Given the description of an element on the screen output the (x, y) to click on. 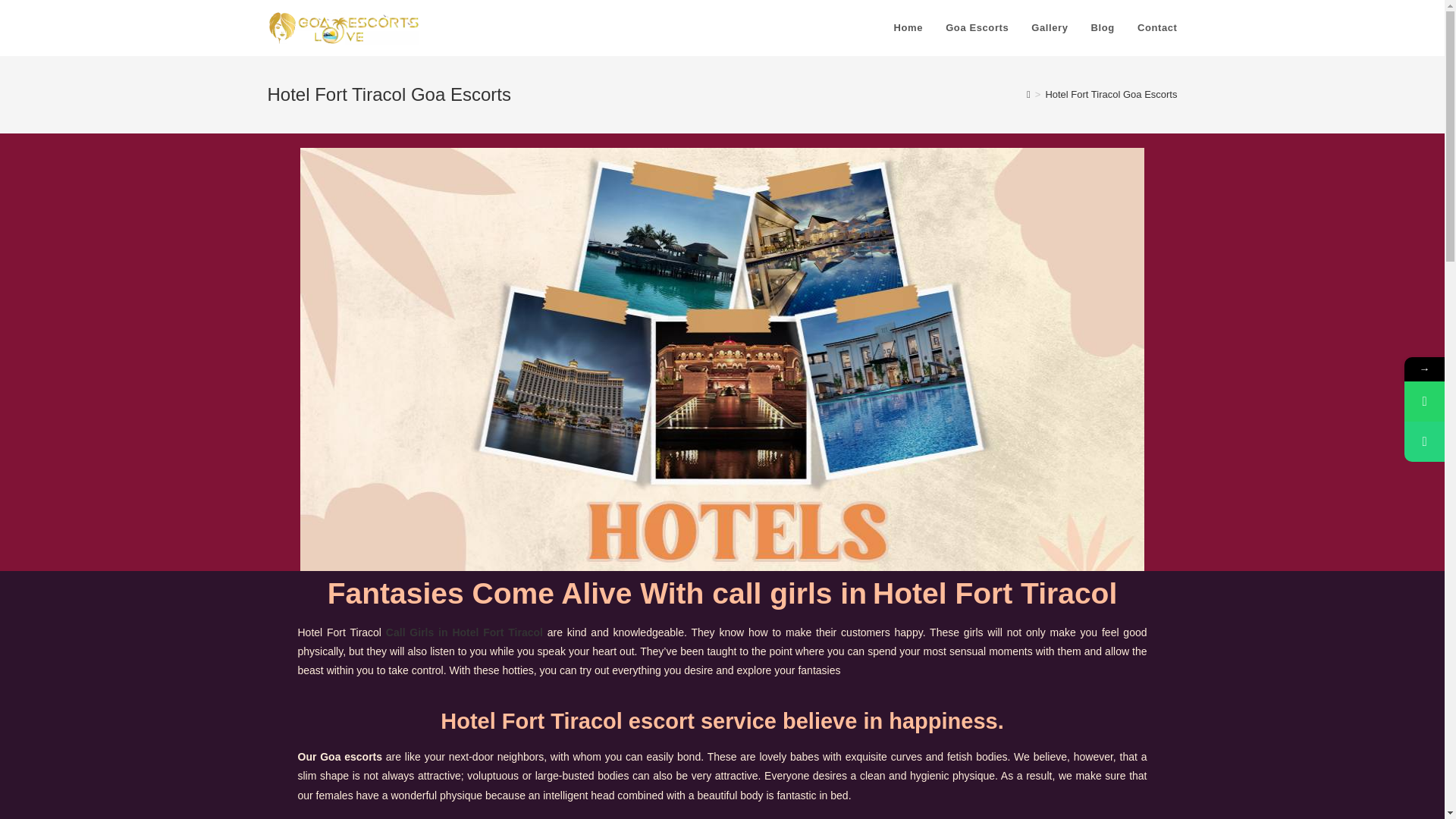
Goa Escorts (977, 28)
Call Girls in Hotel Fort Tiracol (464, 632)
Contact (1157, 28)
Home (908, 28)
Hotel Fort Tiracol Goa Escorts (1110, 93)
Gallery (1049, 28)
